Given the description of an element on the screen output the (x, y) to click on. 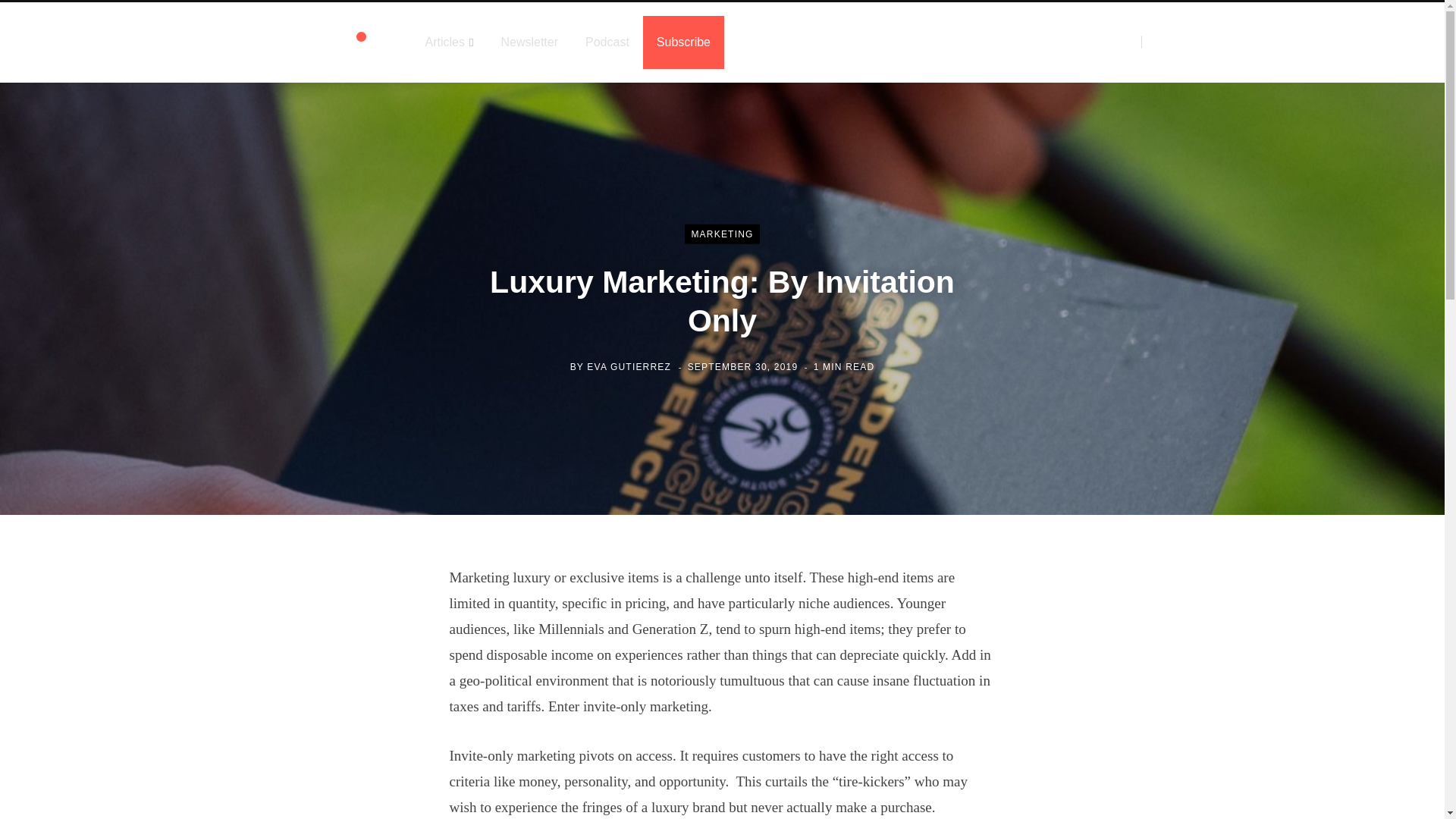
Articles (448, 41)
